Given the description of an element on the screen output the (x, y) to click on. 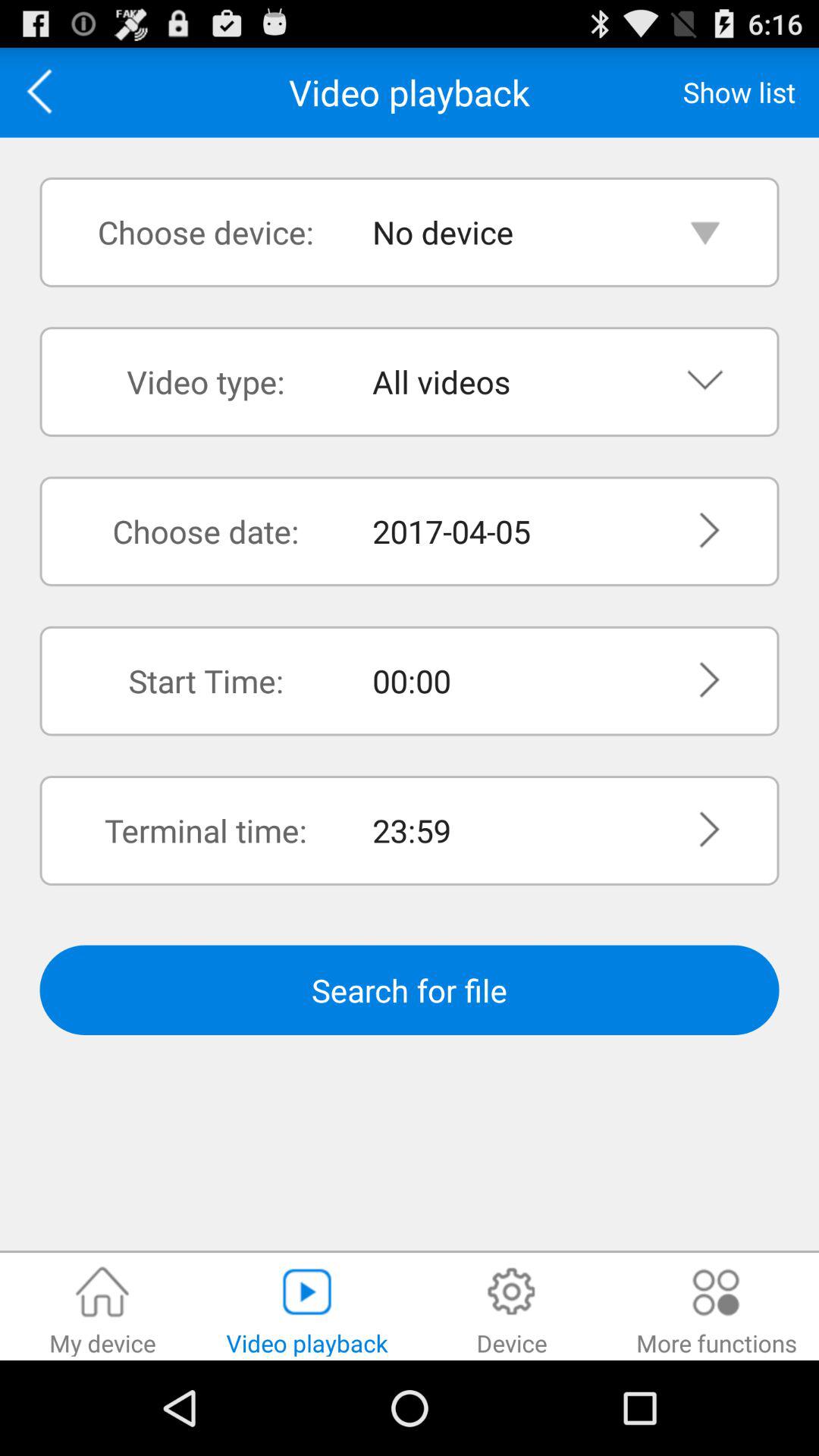
turn on search for file button (409, 990)
